Given the description of an element on the screen output the (x, y) to click on. 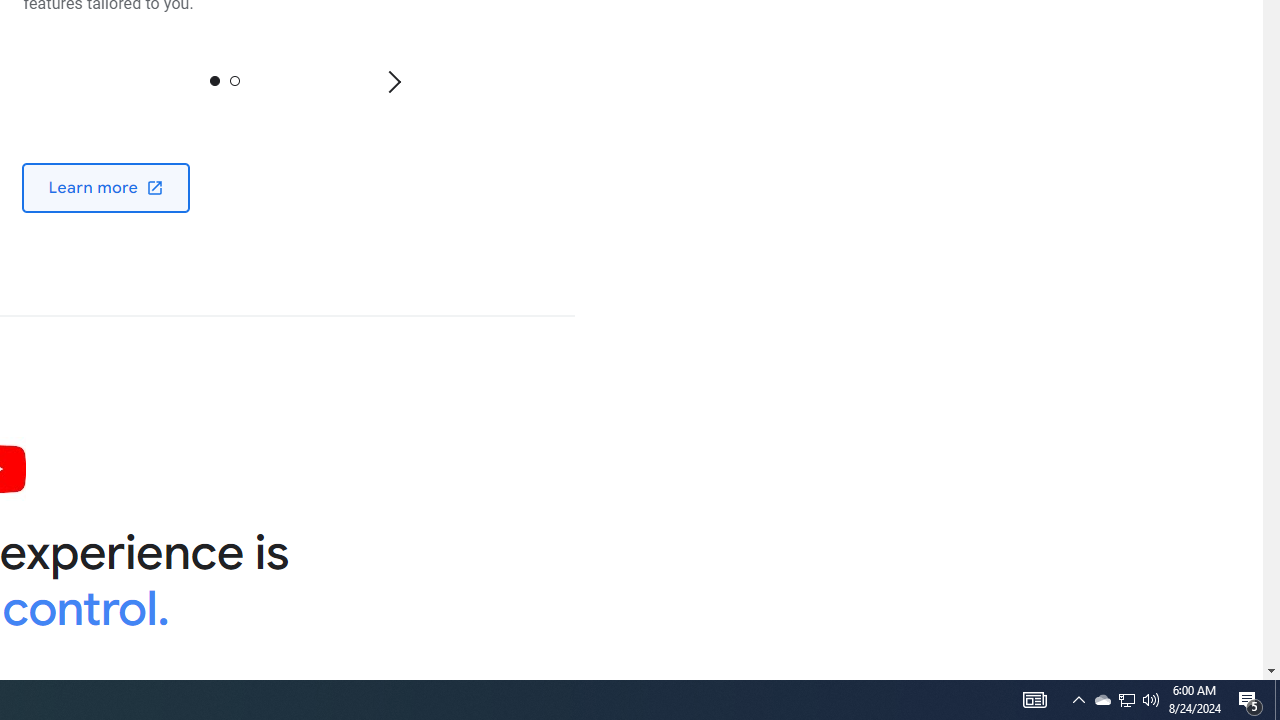
0 (214, 80)
Learn more about Maps (106, 186)
1 (234, 80)
